Given the description of an element on the screen output the (x, y) to click on. 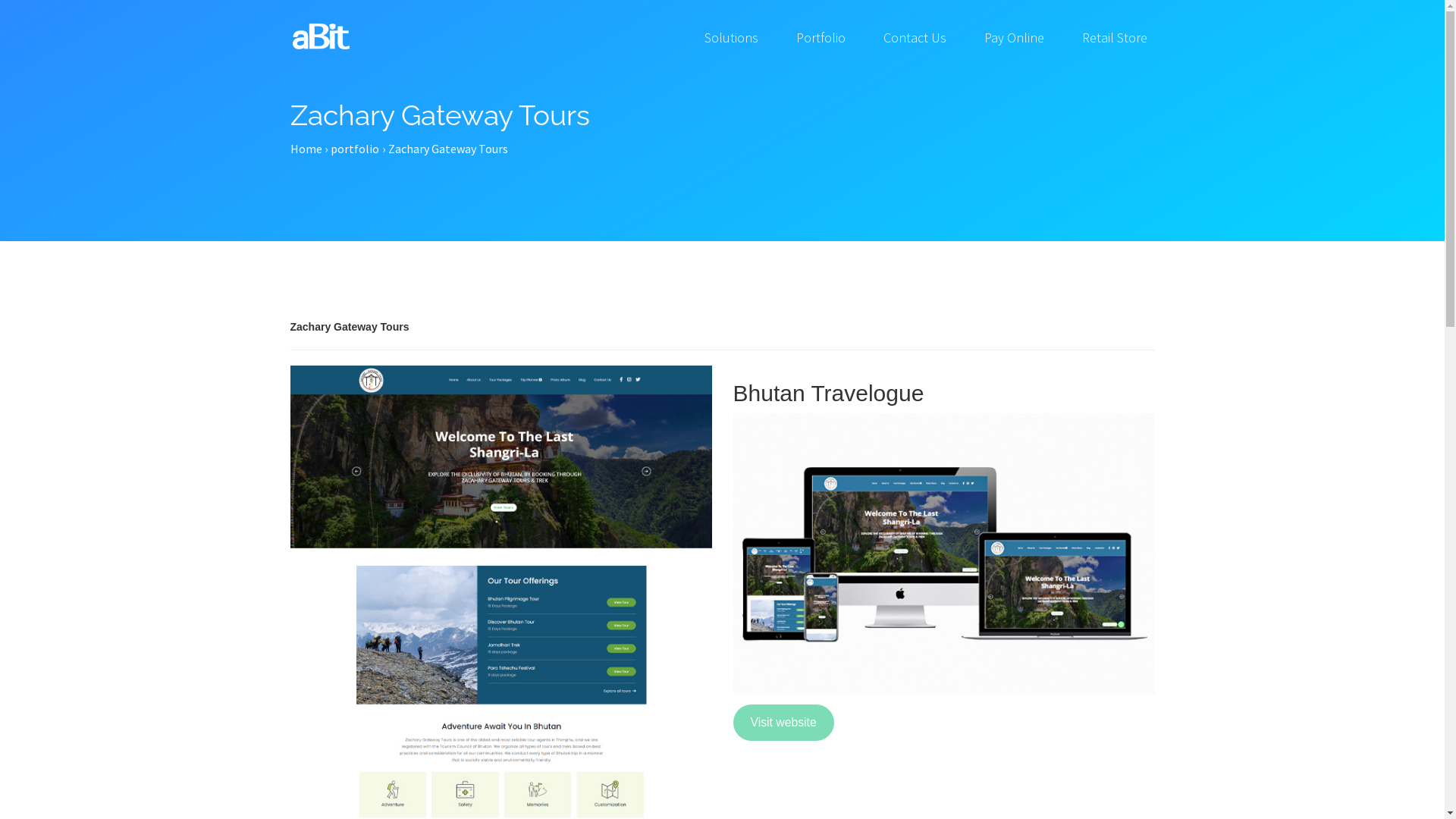
Contact Us Element type: text (914, 37)
Home Element type: text (305, 249)
portfolio Element type: text (354, 148)
aBit Private Limited Element type: hover (319, 36)
Visit website Element type: text (782, 722)
Pay Online Element type: text (1013, 37)
Portfolio Element type: text (819, 37)
portfolio Element type: text (354, 249)
aBit Private Limited Element type: hover (320, 30)
Solutions Element type: text (731, 37)
Home Element type: text (305, 148)
Retail Store Element type: text (1114, 37)
